Given the description of an element on the screen output the (x, y) to click on. 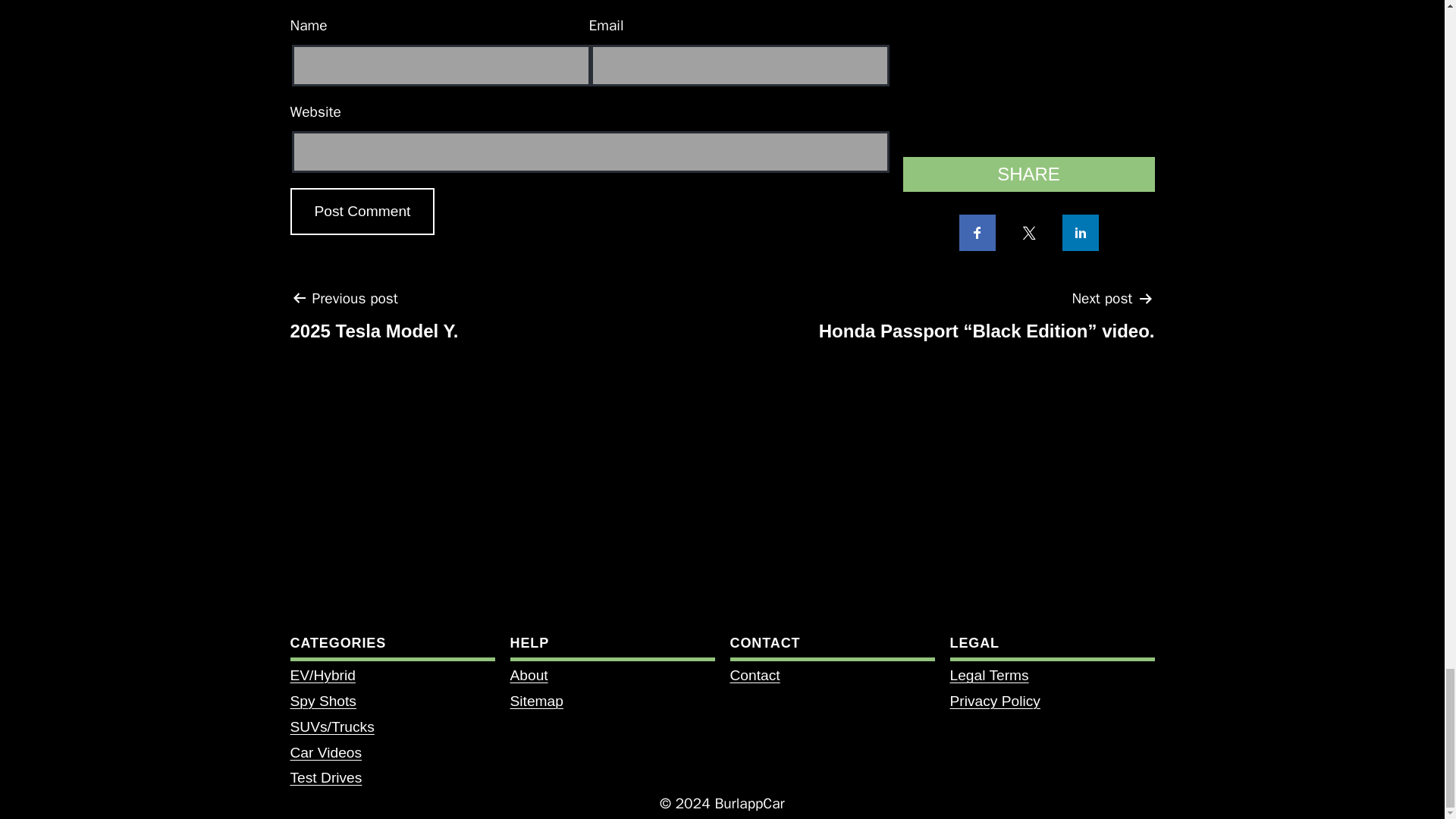
Spy Shots (322, 700)
Car Videos (325, 752)
Post Comment (373, 320)
Spy Shots (361, 211)
Post Comment (322, 700)
Car Videos (361, 211)
Test Drives (325, 752)
